Given the description of an element on the screen output the (x, y) to click on. 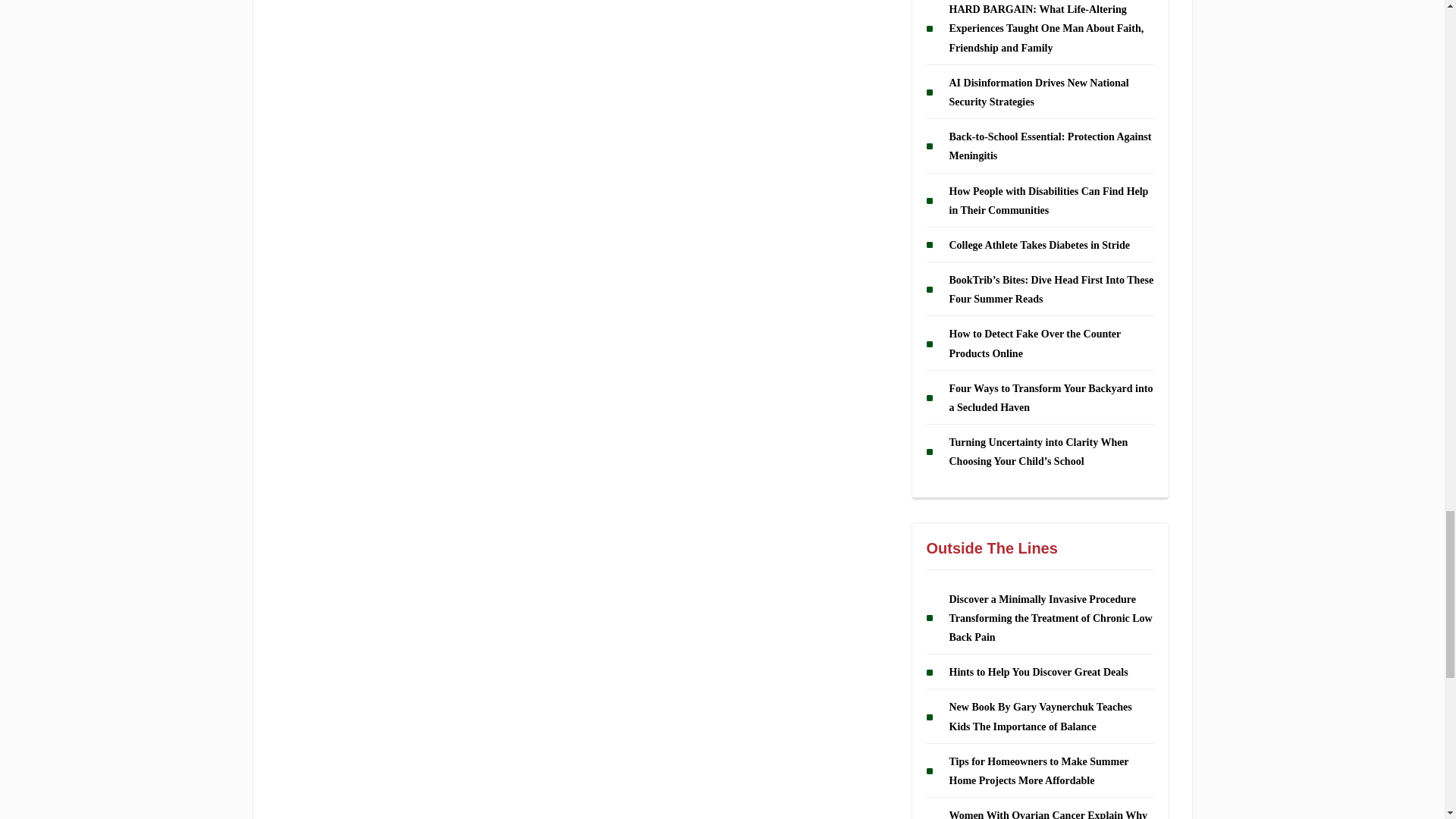
Back-to-School Essential: Protection Against Meningitis (1050, 146)
College Athlete Takes Diabetes in Stride (1039, 244)
AI Disinformation Drives New National Security Strategies (1039, 91)
